Given the description of an element on the screen output the (x, y) to click on. 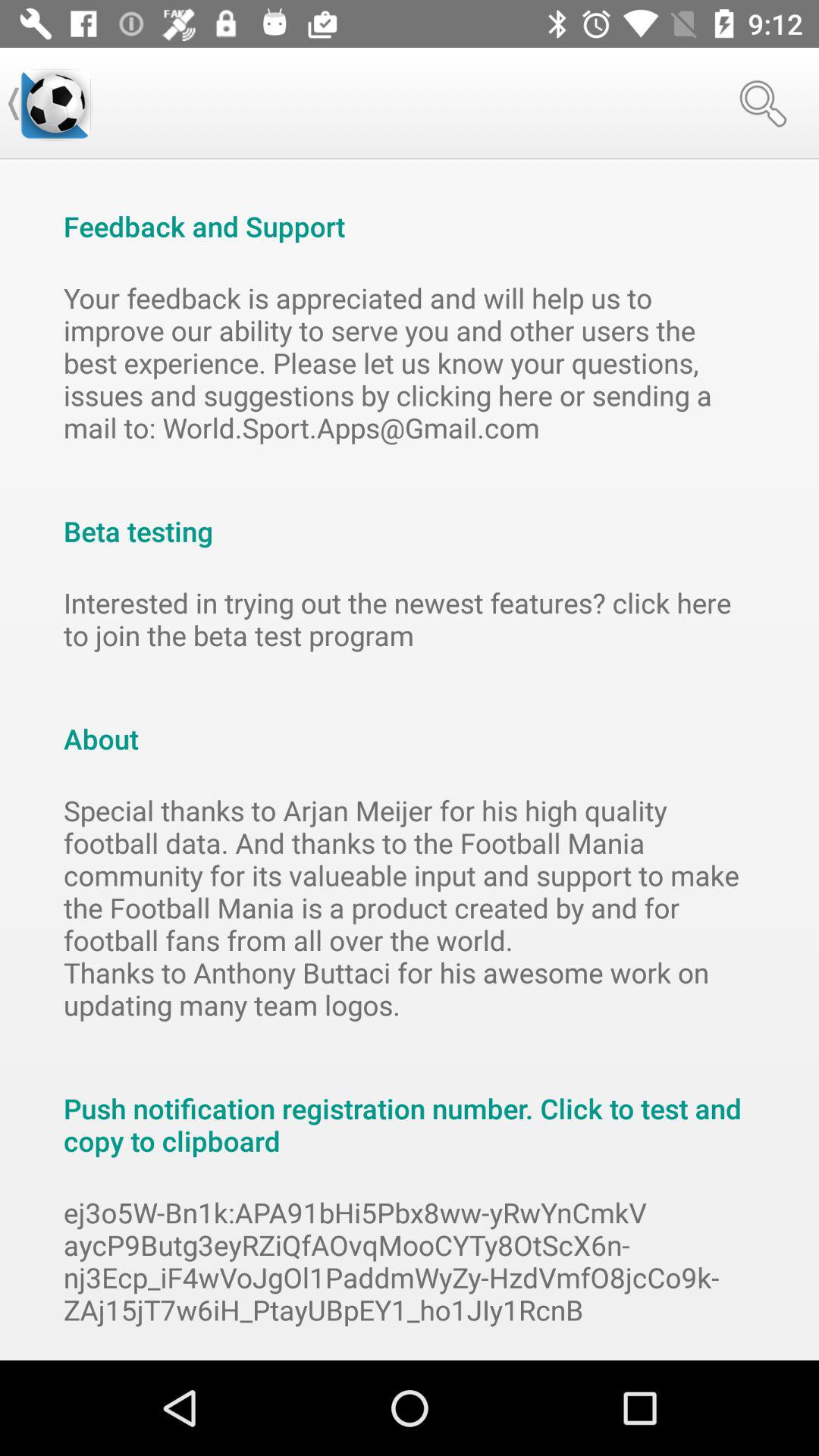
open your feedback is item (409, 362)
